Given the description of an element on the screen output the (x, y) to click on. 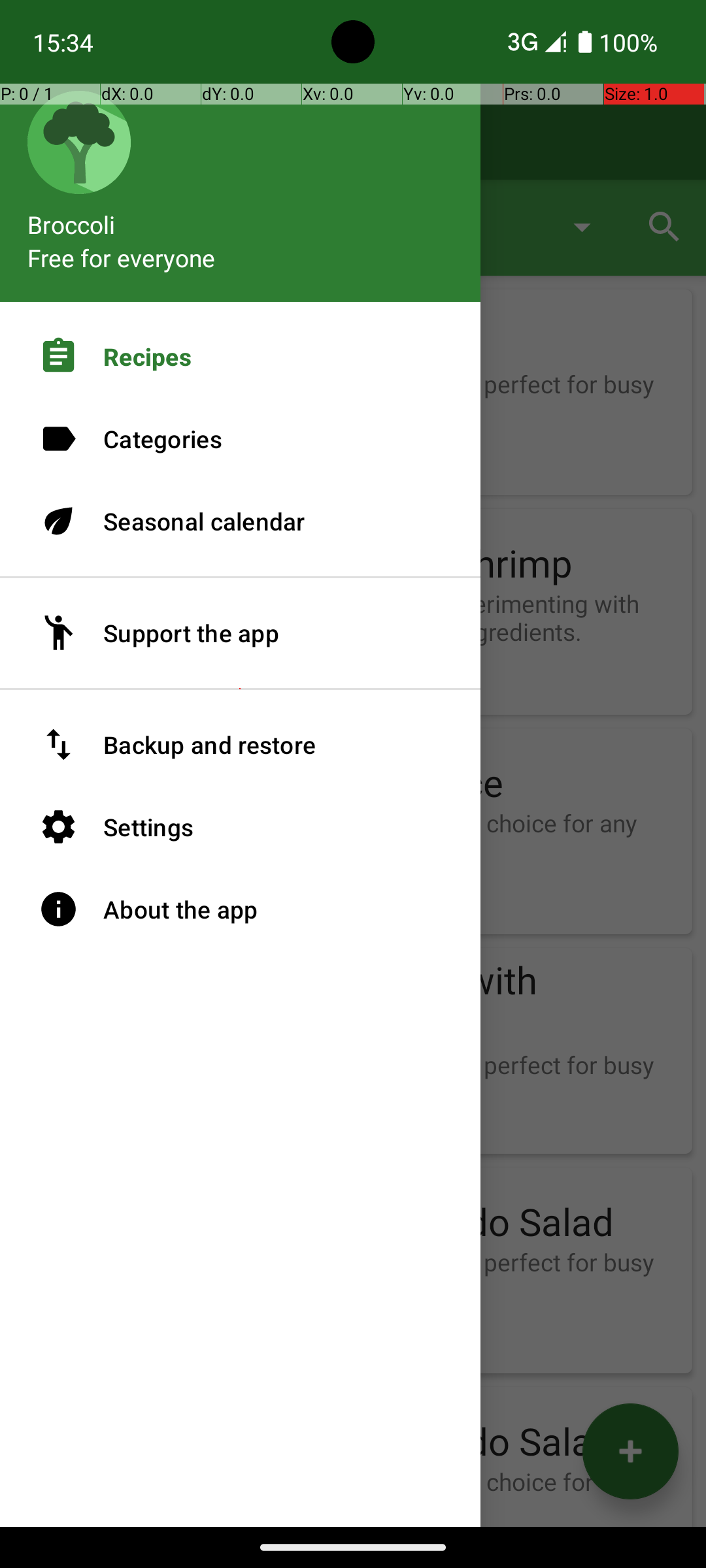
Broccoli Element type: android.widget.TextView (240, 217)
Free for everyone Element type: android.widget.TextView (121, 257)
Seasonal calendar Element type: android.widget.CheckedTextView (239, 521)
Support the app Element type: android.widget.CheckedTextView (239, 632)
Backup and restore Element type: android.widget.CheckedTextView (239, 744)
About the app Element type: android.widget.CheckedTextView (239, 909)
